Given the description of an element on the screen output the (x, y) to click on. 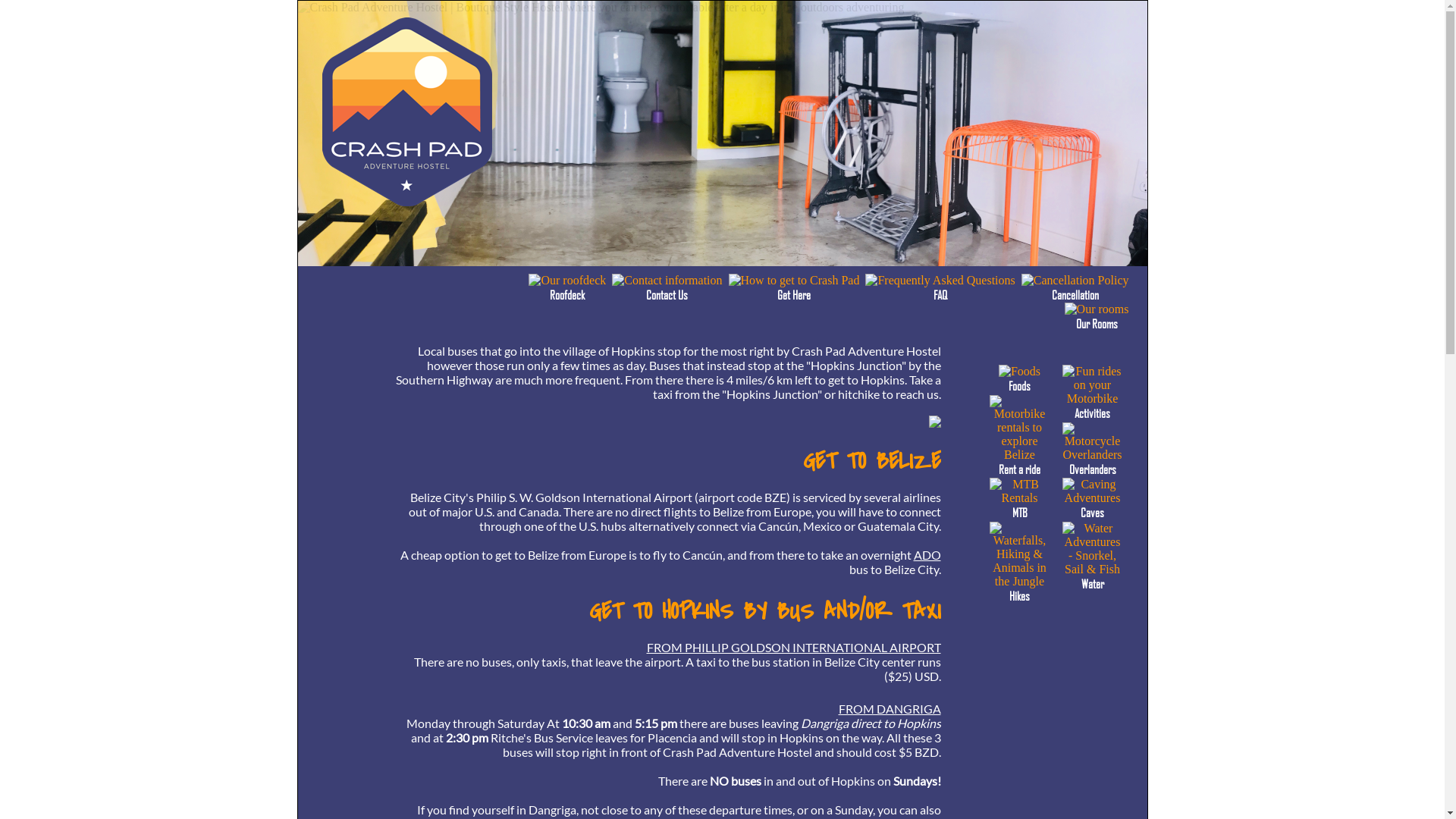
Get Here Element type: text (793, 287)
Water Element type: text (1091, 576)
Caves Element type: text (1091, 505)
Go back to the main page Element type: hover (406, 201)
Cancellation Element type: text (1075, 287)
Hikes Element type: text (1018, 588)
Rent a ride Element type: text (1018, 462)
FAQ Element type: text (939, 287)
MTB Element type: text (1018, 505)
Roofdeck Element type: text (566, 287)
Our Rooms Element type: text (1096, 316)
ADO Element type: text (926, 554)
Activities Element type: text (1091, 406)
Foods Element type: text (1018, 378)
Contact Us Element type: text (666, 287)
Overlanders Element type: text (1091, 462)
